Given the description of an element on the screen output the (x, y) to click on. 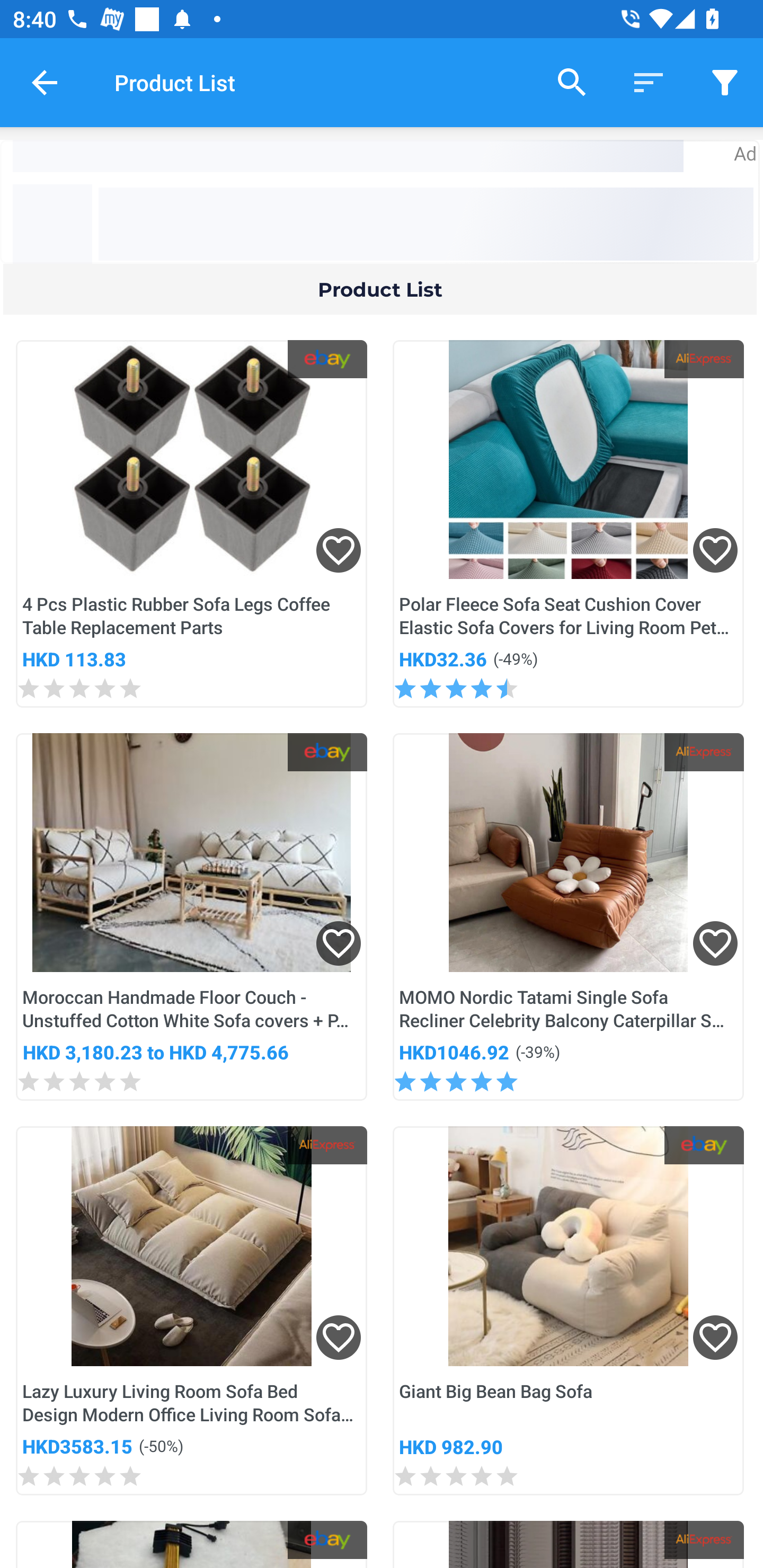
Navigate up (44, 82)
Search (572, 81)
short (648, 81)
short (724, 81)
Giant Big Bean Bag Sofa HKD 982.90 0.0 (567, 1310)
